Given the description of an element on the screen output the (x, y) to click on. 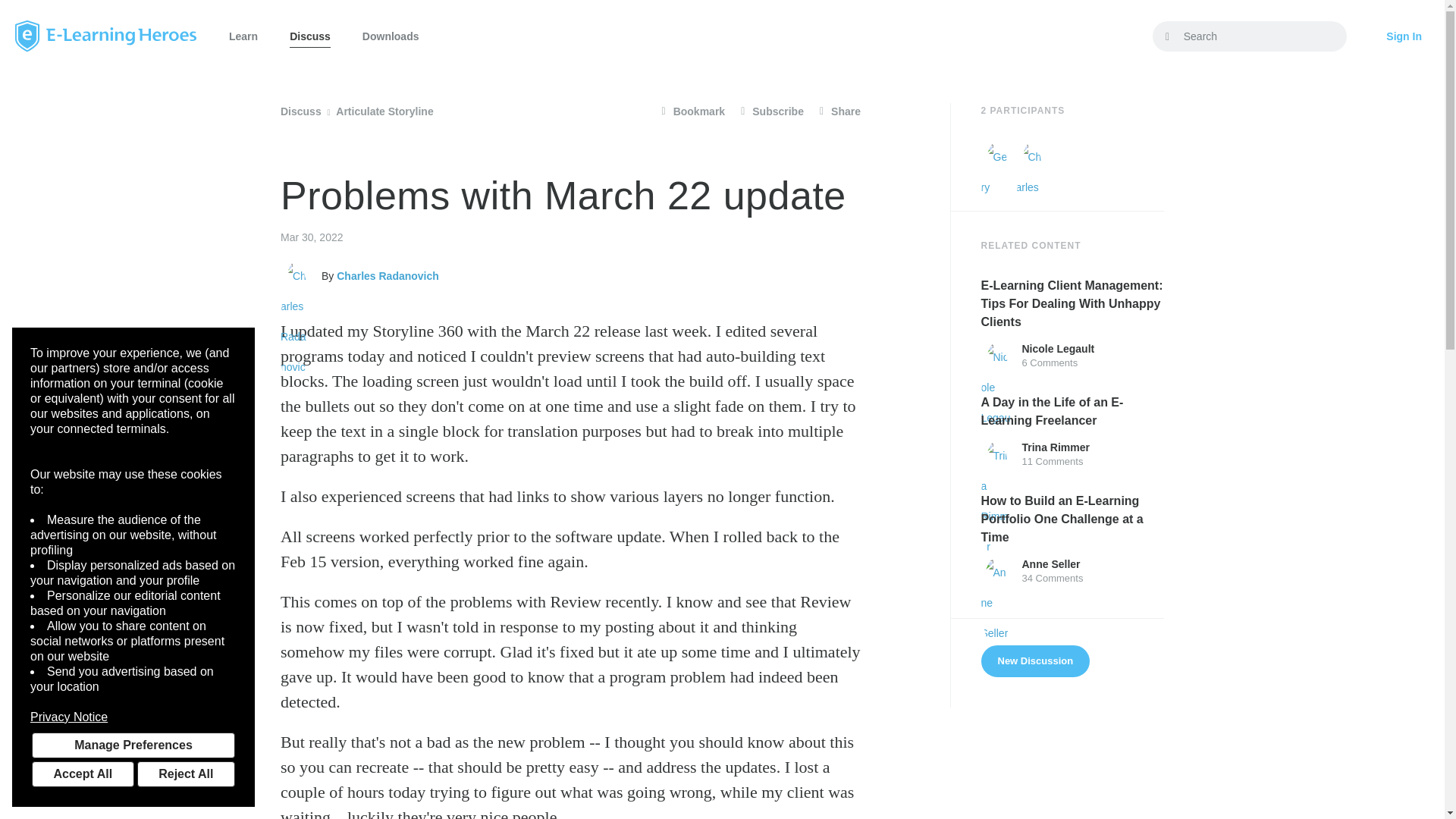
Privacy Notice (132, 717)
Accept All (82, 774)
Manage Preferences (133, 745)
E-Learning Heroes (105, 36)
Sign In (1404, 36)
Reject All (185, 774)
